Given the description of an element on the screen output the (x, y) to click on. 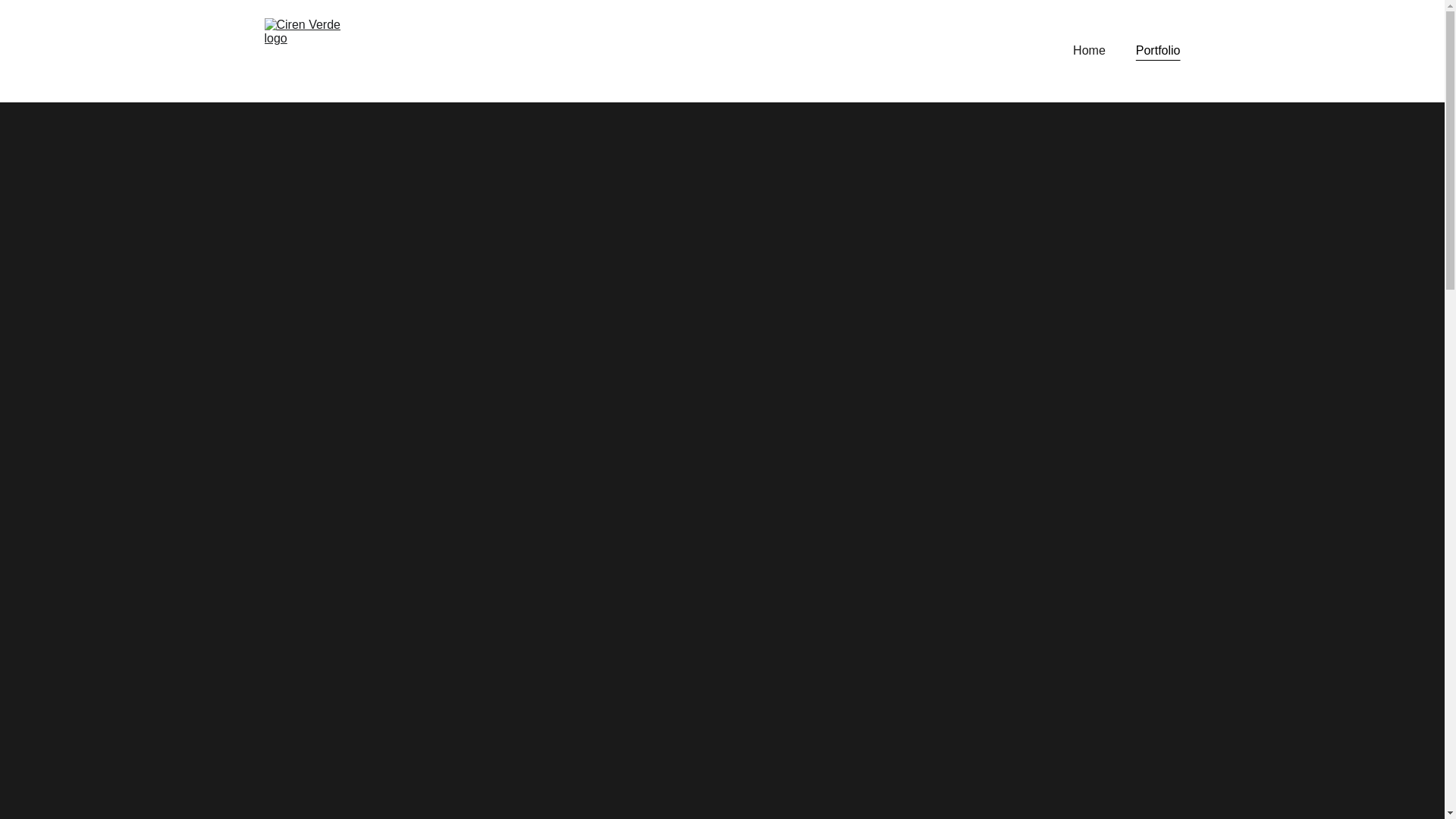
Home (1089, 50)
Portfolio (1157, 50)
